Given the description of an element on the screen output the (x, y) to click on. 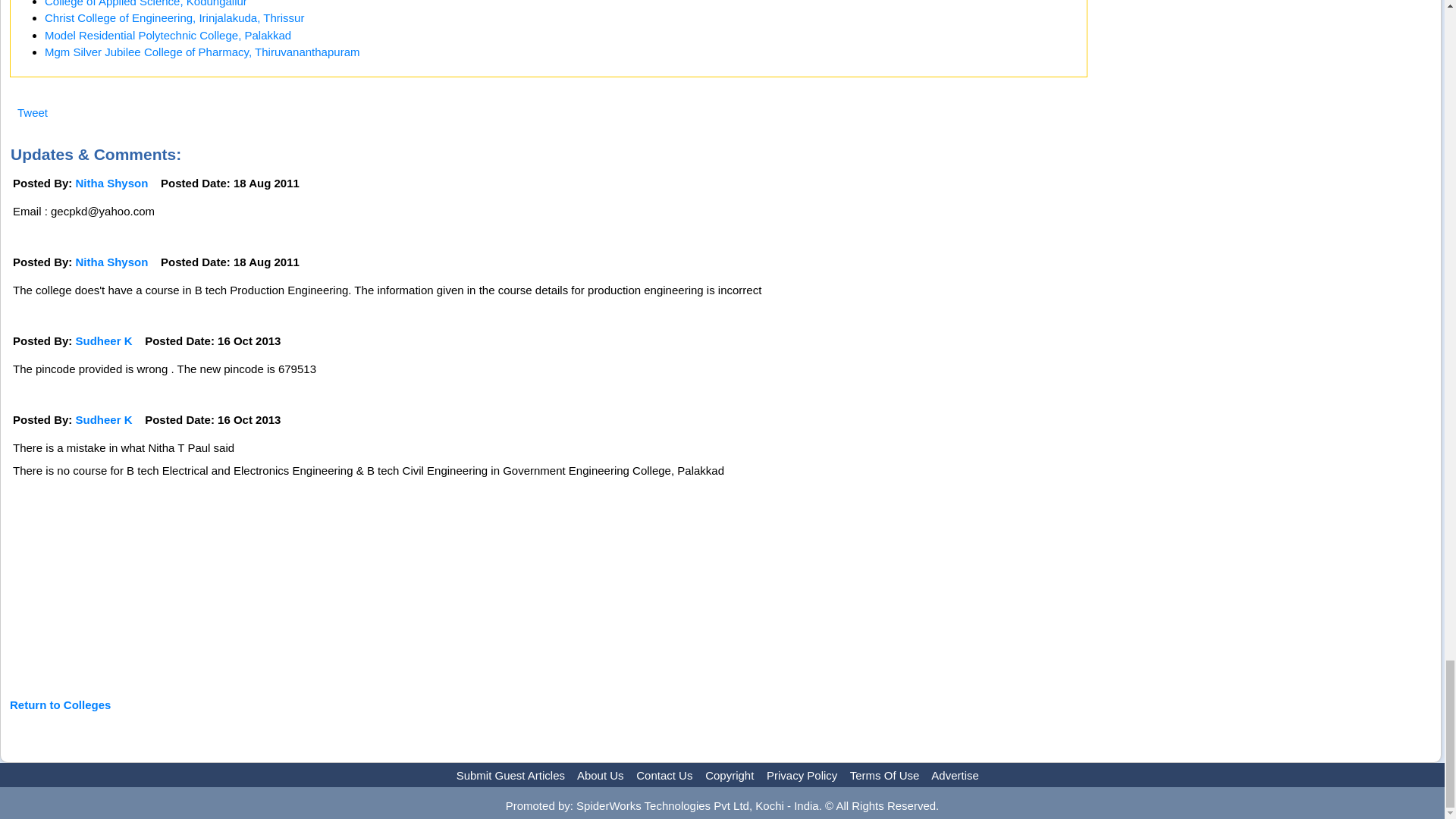
Mgm Silver Jubilee College of Pharmacy (202, 51)
Model Residential Polytechnic College (168, 34)
College of Applied Science, Kodungallur (146, 3)
Christ College of Engineering (174, 17)
